Given the description of an element on the screen output the (x, y) to click on. 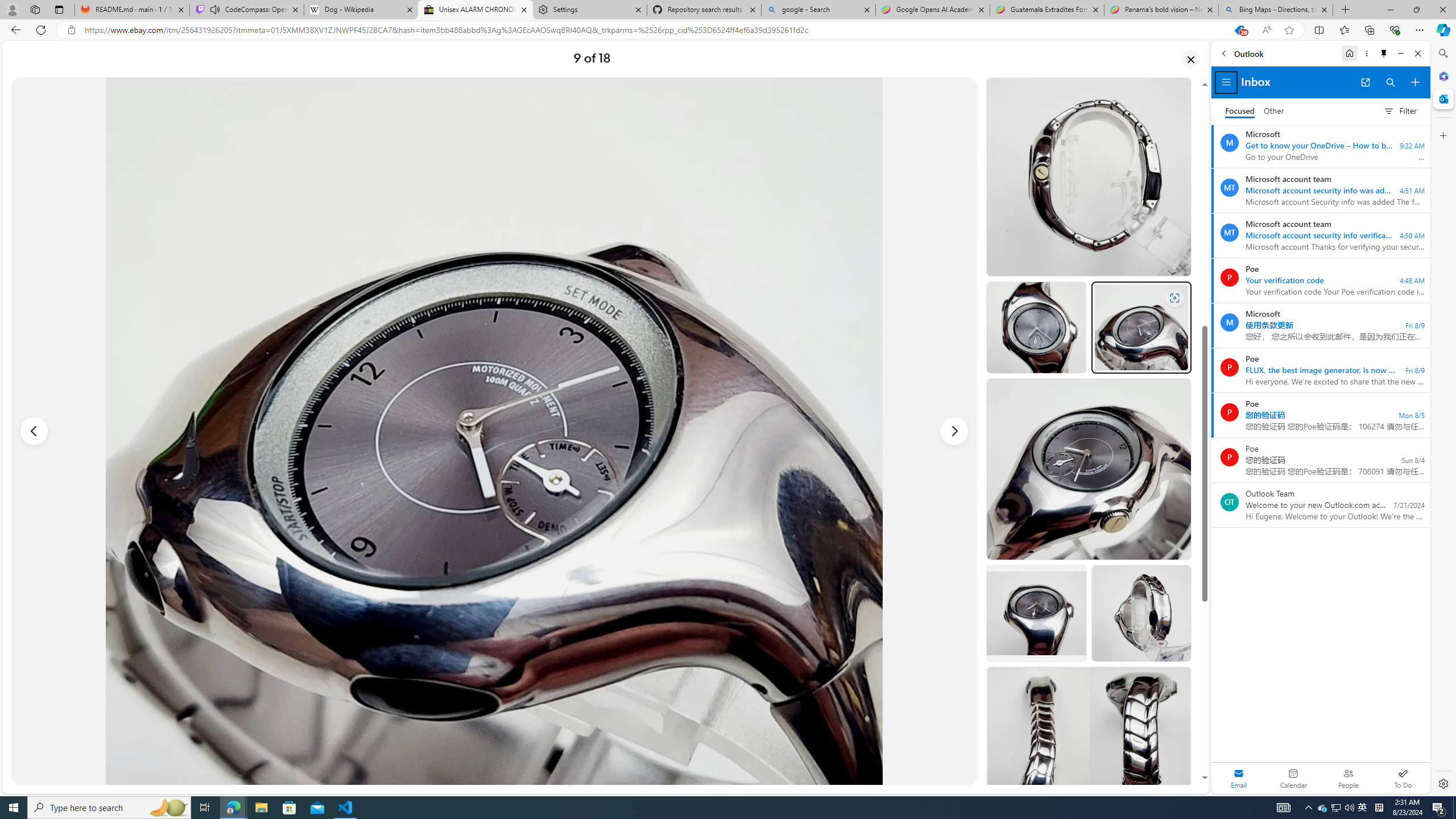
Other (1273, 110)
Settings (589, 9)
Settings and more (Alt+F) (1419, 29)
Open in new tab (1365, 82)
google - Search (818, 9)
Address and search bar (653, 29)
Side bar (1443, 418)
Add this page to favorites (Ctrl+D) (1289, 29)
Close tab (1324, 9)
Close (1417, 53)
